Given the description of an element on the screen output the (x, y) to click on. 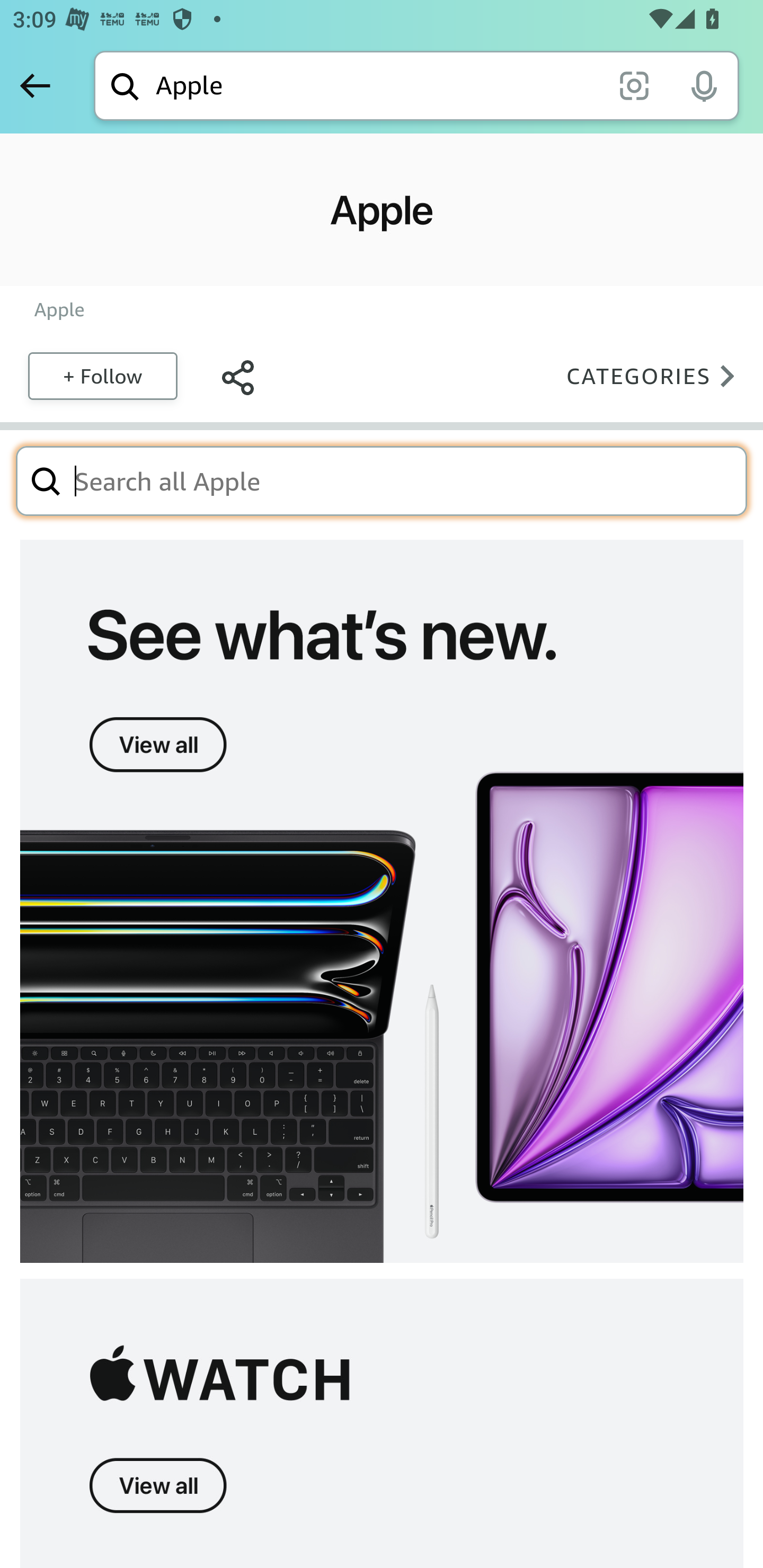
Back (35, 85)
scan it (633, 85)
Apple (59, 309)
Share (237, 375)
Follow Apple (101, 375)
CATEGORIES (656, 375)
Search (45, 480)
learn more (381, 901)
learn more (381, 1422)
